Given the description of an element on the screen output the (x, y) to click on. 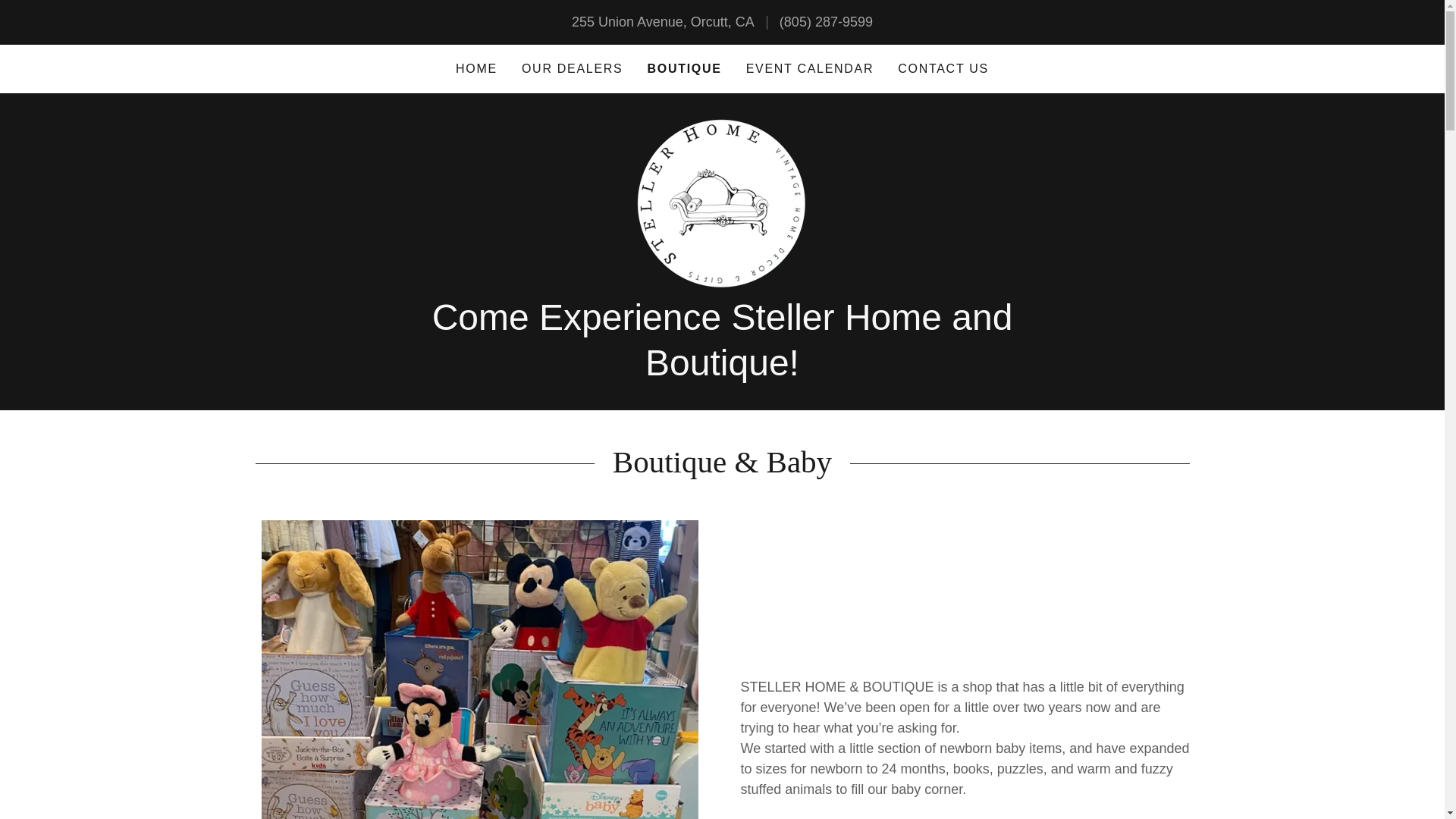
EVENT CALENDAR (810, 68)
OUR DEALERS (571, 68)
CONTACT US (942, 68)
HOME (476, 68)
BOUTIQUE (683, 68)
Steller Home (721, 201)
